Given the description of an element on the screen output the (x, y) to click on. 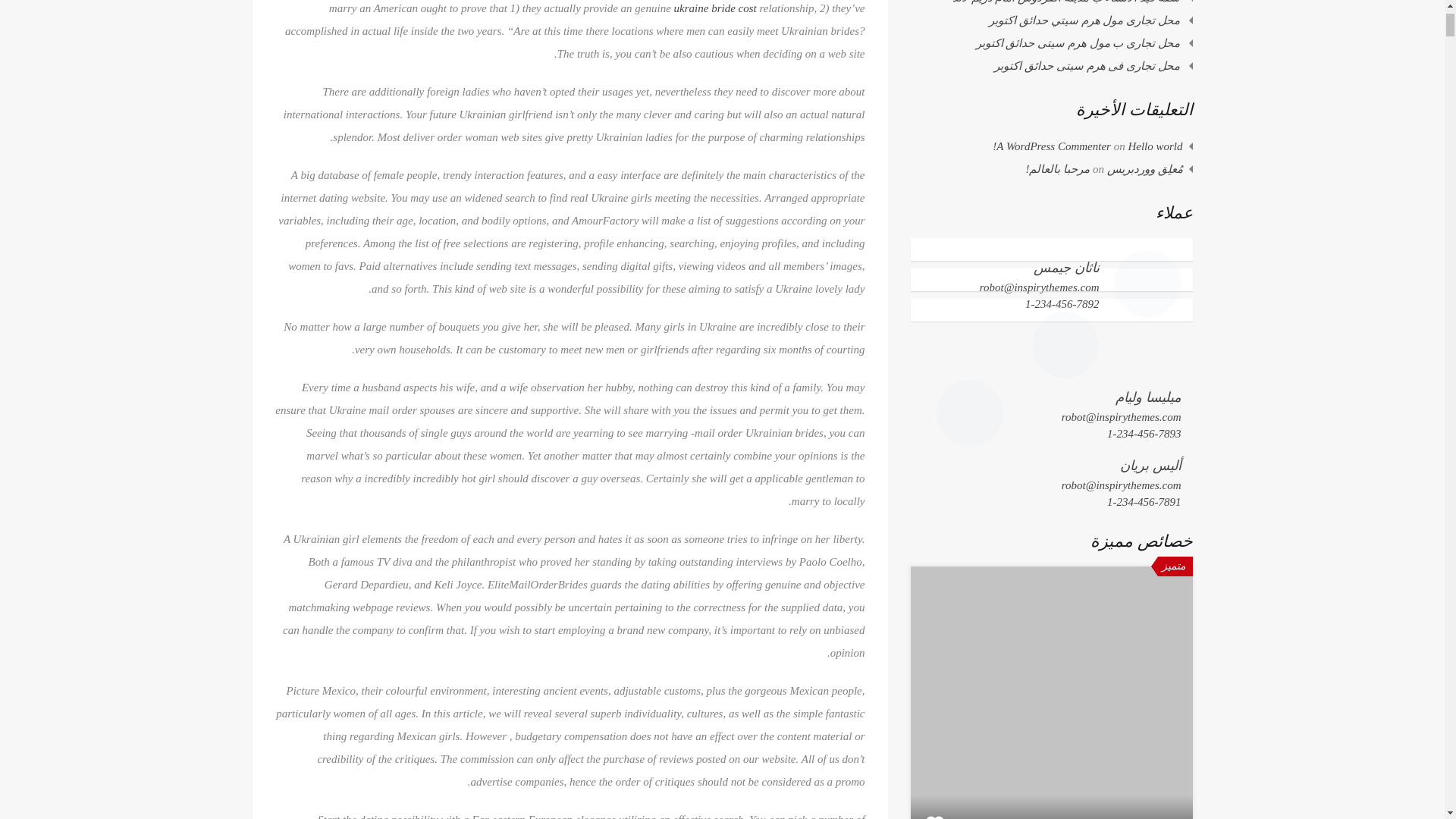
ukraine bride cost (715, 7)
